Given the description of an element on the screen output the (x, y) to click on. 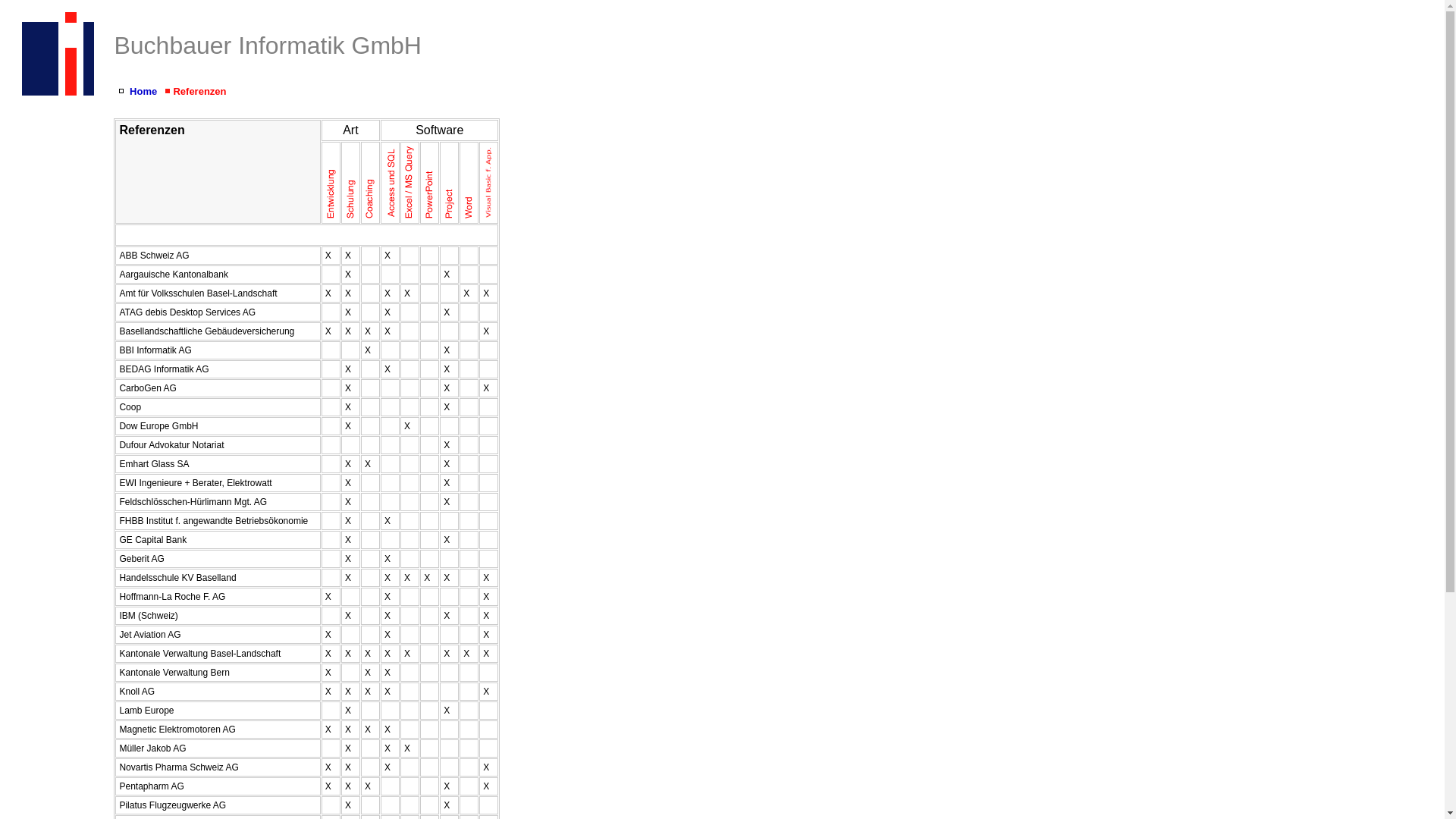
Home Element type: text (142, 91)
